Given the description of an element on the screen output the (x, y) to click on. 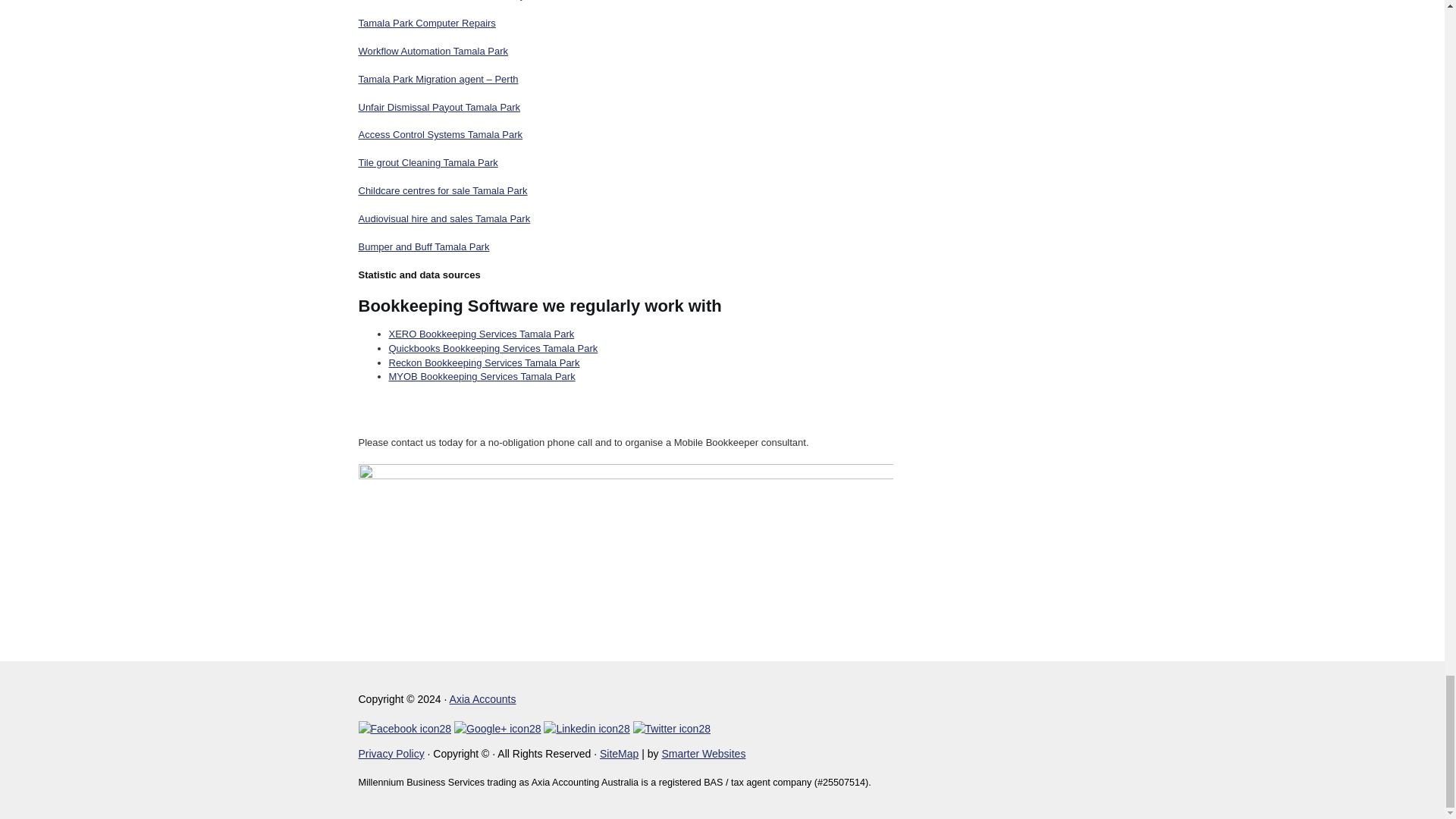
Tile grout Cleaning Tamala Park (427, 162)
Tamala Park Computer Repairs (426, 22)
Quickbooks Bookkeeping Services Tamala Park (492, 348)
Unfair Dismissal Payout Tamala Park (438, 107)
Childcare centres for sale Tamala Park (442, 190)
Access Control Systems Tamala Park (440, 134)
XERO Bookkeeping Services Tamala Park (480, 333)
Audiovisual hire and sales Tamala Park (443, 218)
Bumper and Buff Tamala Park (423, 246)
Workflow Automation Tamala Park (433, 50)
